Given the description of an element on the screen output the (x, y) to click on. 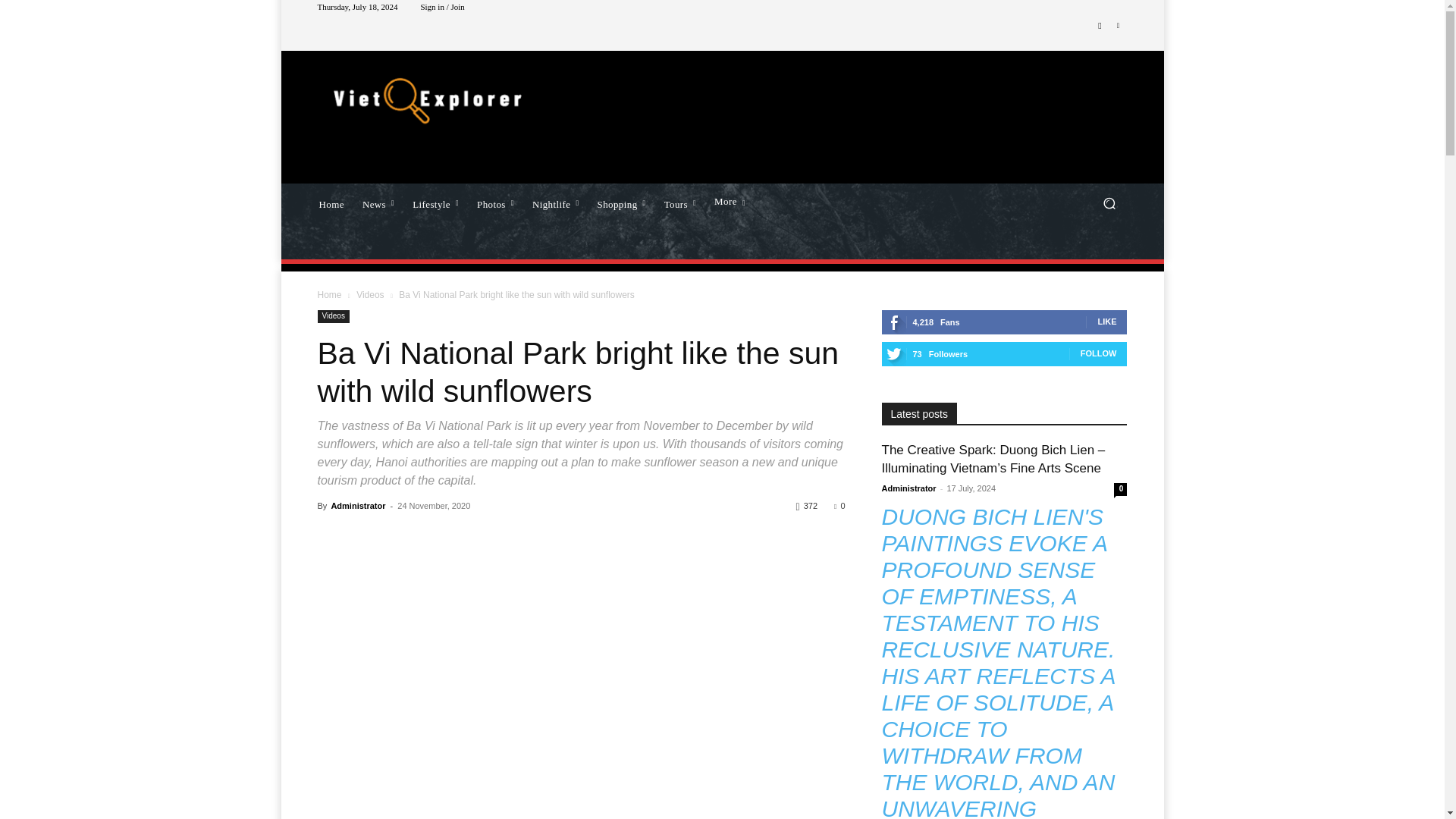
Home (330, 202)
News (378, 202)
Twitter (1117, 25)
Lifestyle (435, 202)
Facebook (1099, 25)
